Given the description of an element on the screen output the (x, y) to click on. 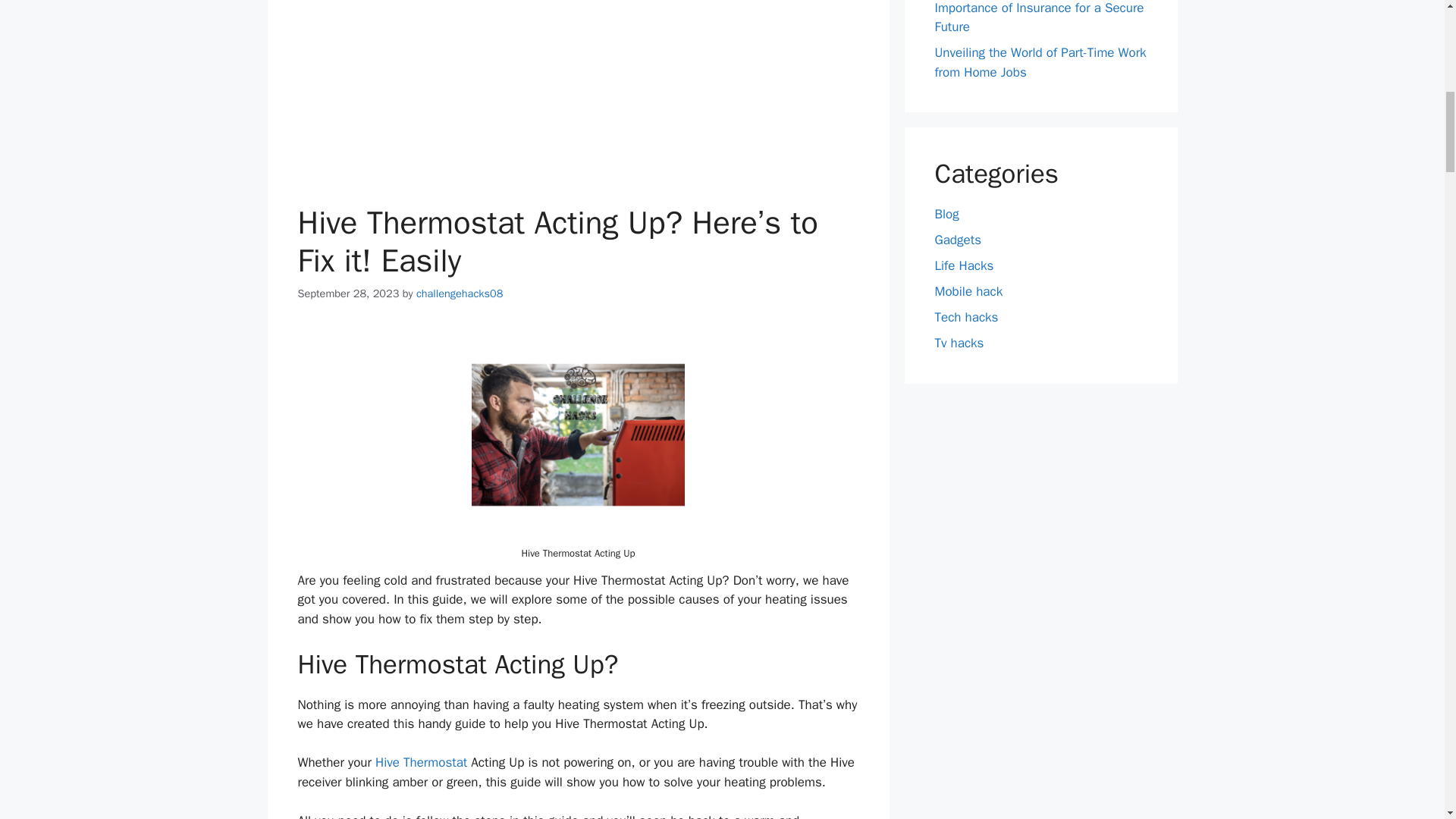
Unveiling the World of Part-Time Work from Home Jobs (1039, 62)
View all posts by challengehacks08 (459, 293)
Hive Thermostat (421, 762)
challengehacks08 (459, 293)
